Given the description of an element on the screen output the (x, y) to click on. 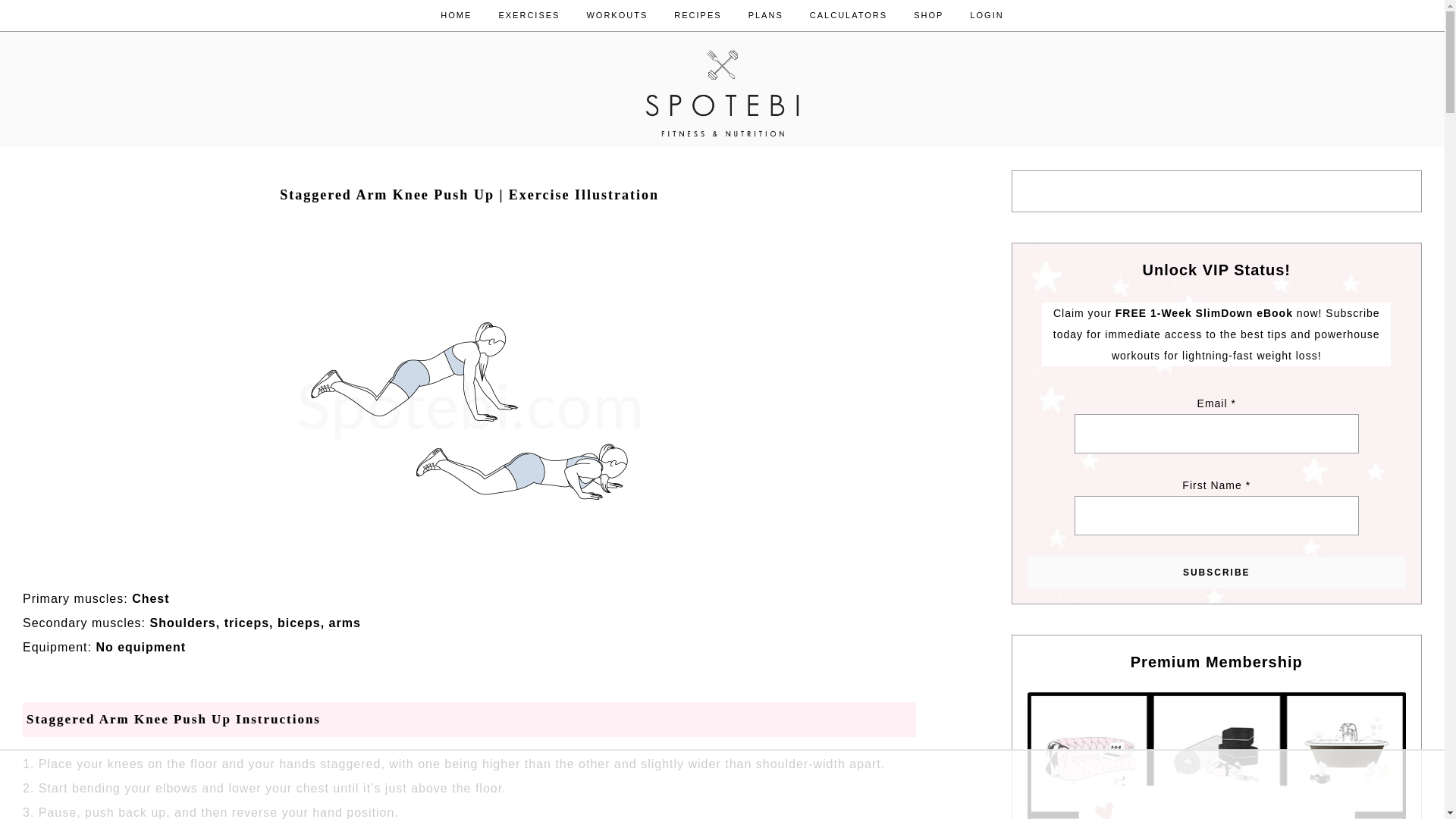
Share on Facebook (58, 247)
PLANS (765, 15)
RECIPES (697, 15)
CALCULATORS (847, 15)
WORKOUTS (617, 15)
LOGIN (986, 15)
EXERCISES (528, 15)
SHOP (928, 15)
HOME (456, 15)
Send over email (107, 247)
Save to Pinterest (34, 247)
Subscribe (1216, 572)
Share on X (83, 247)
